Given the description of an element on the screen output the (x, y) to click on. 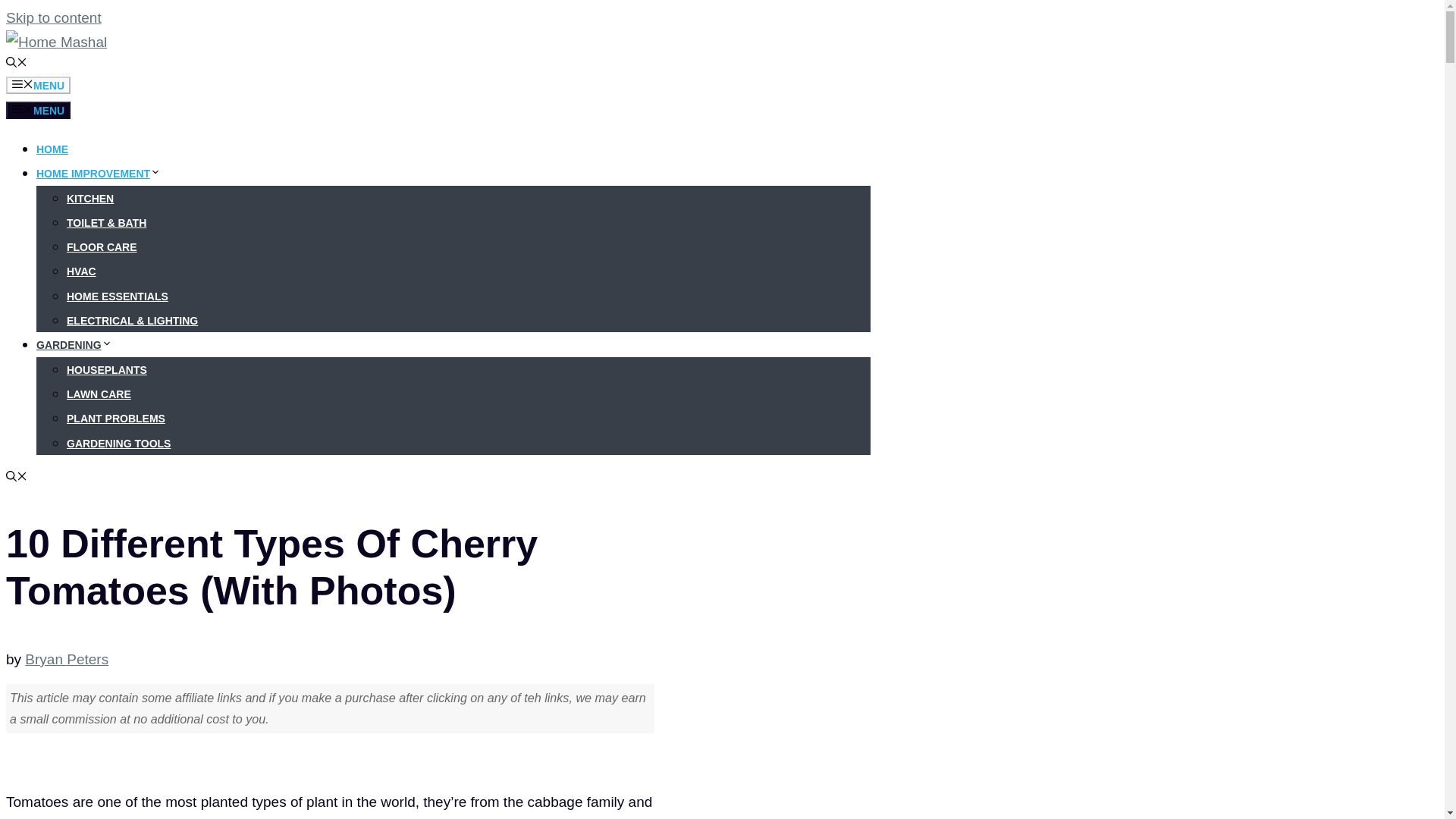
GARDENING TOOLS (118, 443)
MENU (37, 109)
LAWN CARE (98, 394)
PLANT PROBLEMS (115, 418)
HOME ESSENTIALS (117, 296)
HOME (52, 149)
GARDENING (74, 345)
Skip to content (53, 17)
Skip to content (53, 17)
HVAC (81, 271)
